Given the description of an element on the screen output the (x, y) to click on. 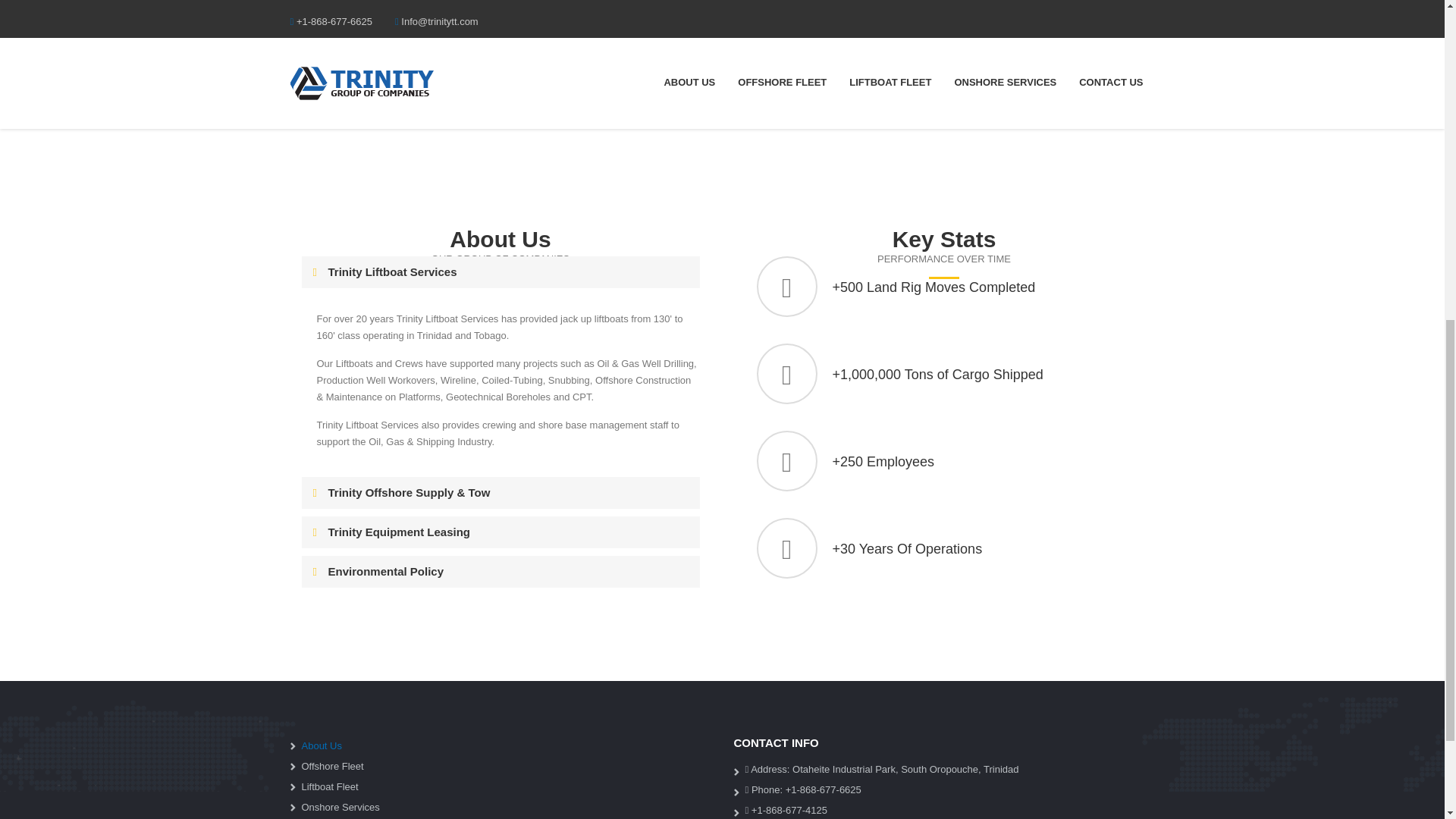
Trinity Equipment Leasing (500, 532)
Environmental Policy (500, 571)
Environmental Policy (500, 571)
Trinity Equipment Leasing (500, 532)
Offshore Fleet (506, 764)
Trinity Liftboat Services (500, 271)
About Us (506, 743)
Trinity Liftboat Services (500, 271)
Liftboat Fleet (506, 784)
Onshore Services (506, 805)
